Given the description of an element on the screen output the (x, y) to click on. 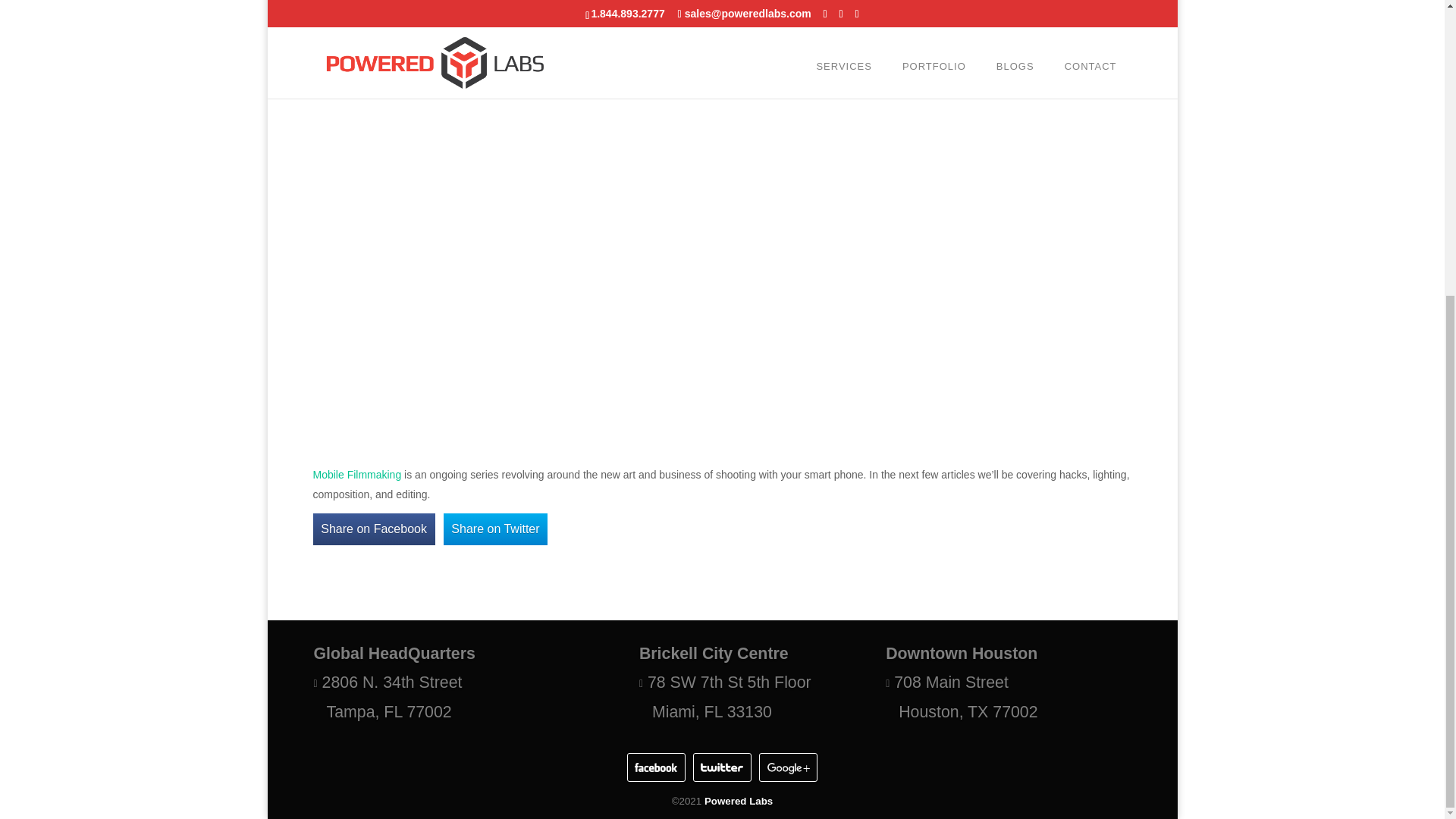
Powered Labs (738, 800)
Mobile Filmmaking (357, 474)
Share on Twitter (496, 529)
Share on Facebook (373, 529)
